Given the description of an element on the screen output the (x, y) to click on. 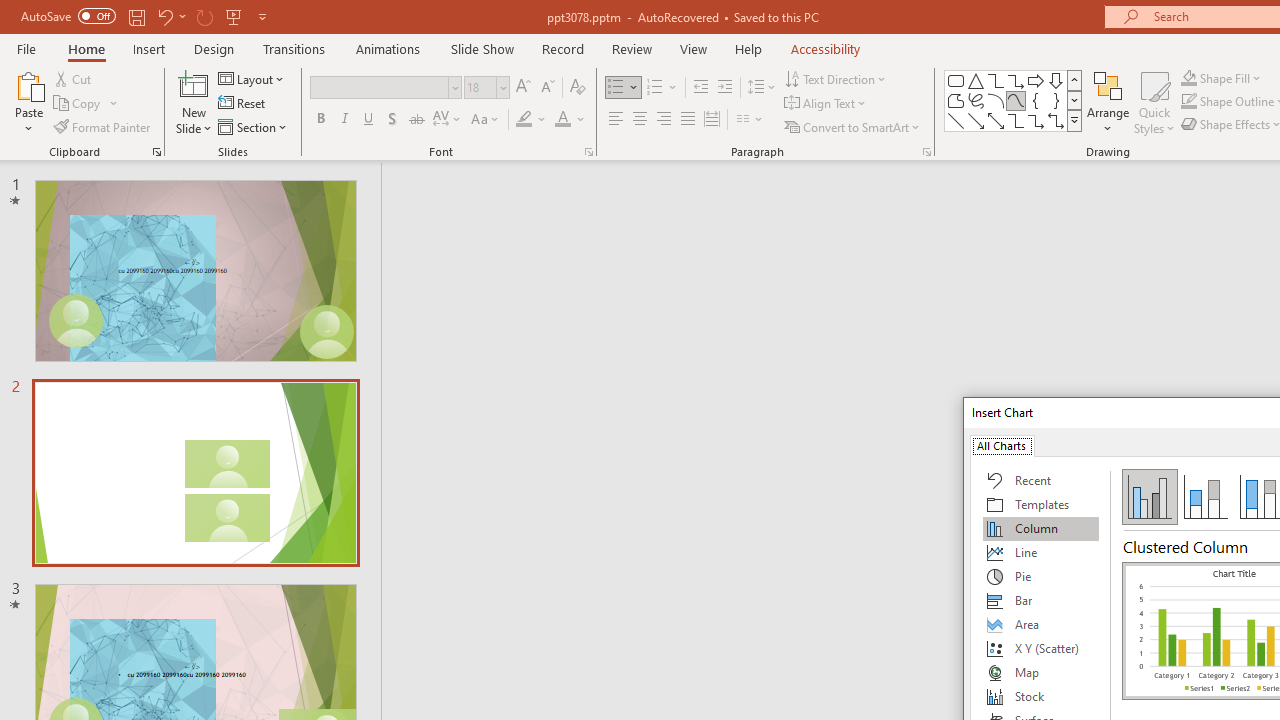
Map (1041, 672)
